Given the description of an element on the screen output the (x, y) to click on. 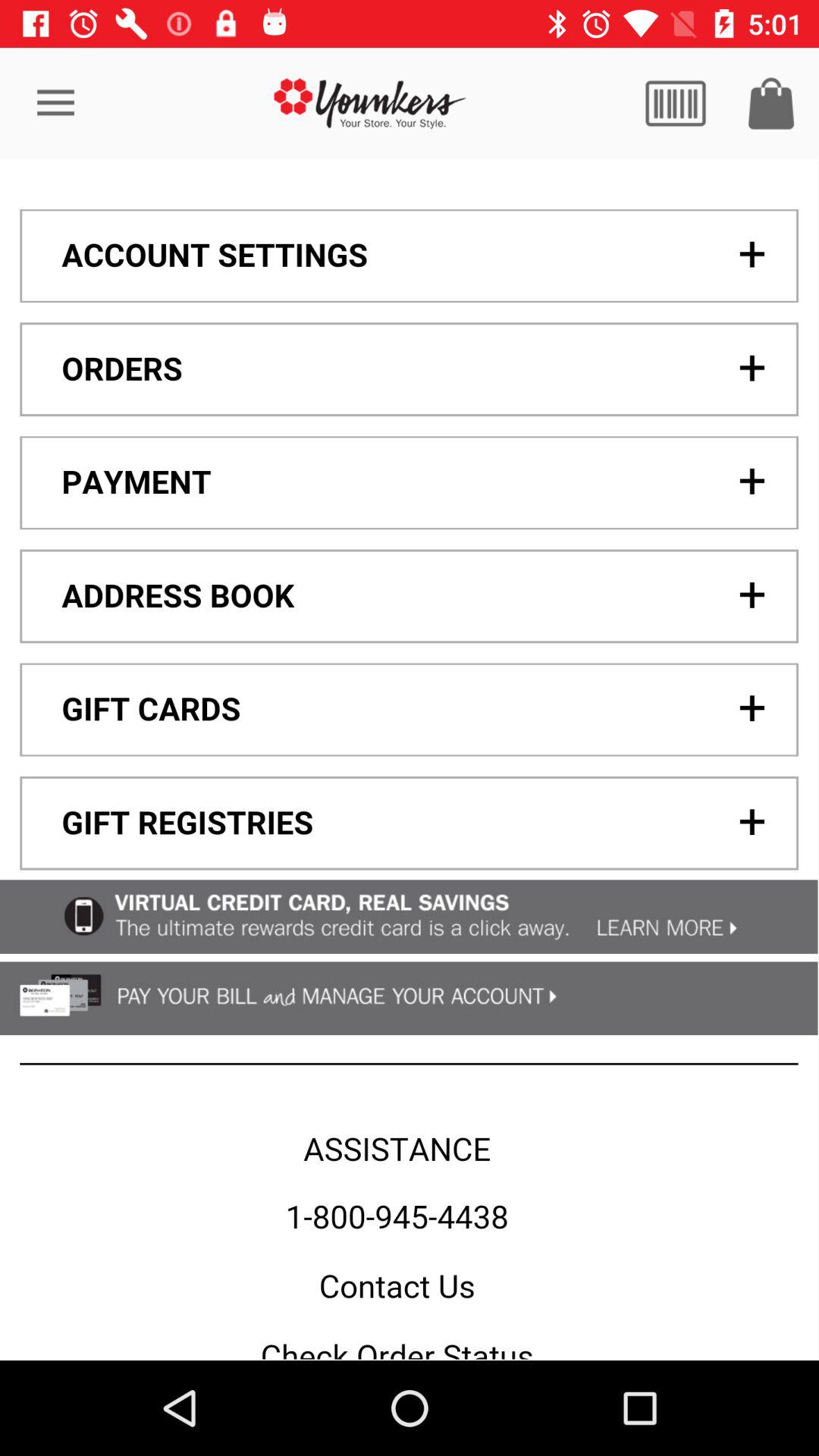
click the symbol to buy things (771, 103)
